Given the description of an element on the screen output the (x, y) to click on. 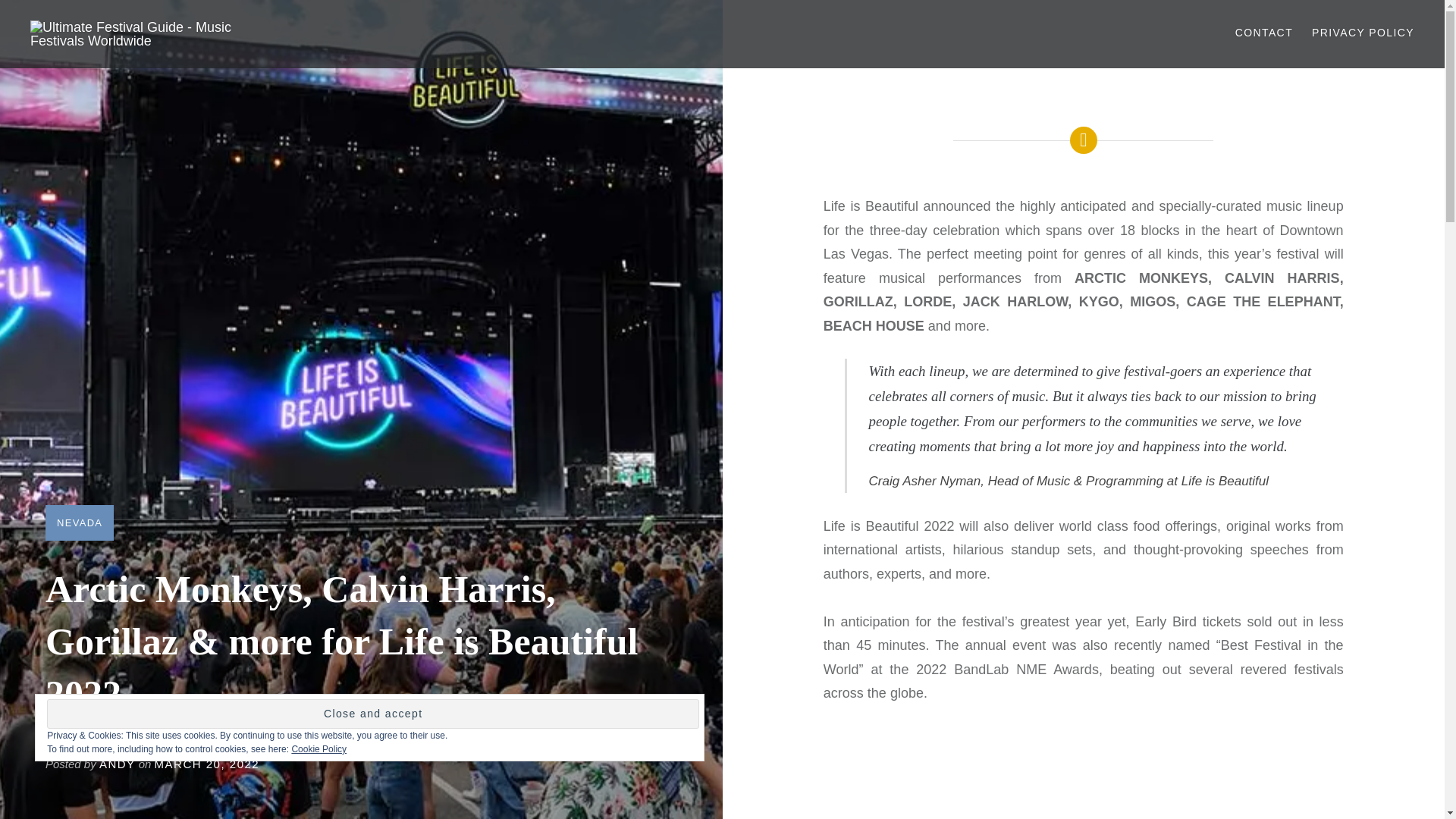
Close and accept (372, 713)
ANDY (117, 763)
PRIVACY POLICY (1362, 32)
NEVADA (78, 522)
Close and accept (372, 713)
Cookie Policy (318, 748)
MARCH 20, 2022 (207, 763)
CONTACT (1263, 32)
